Given the description of an element on the screen output the (x, y) to click on. 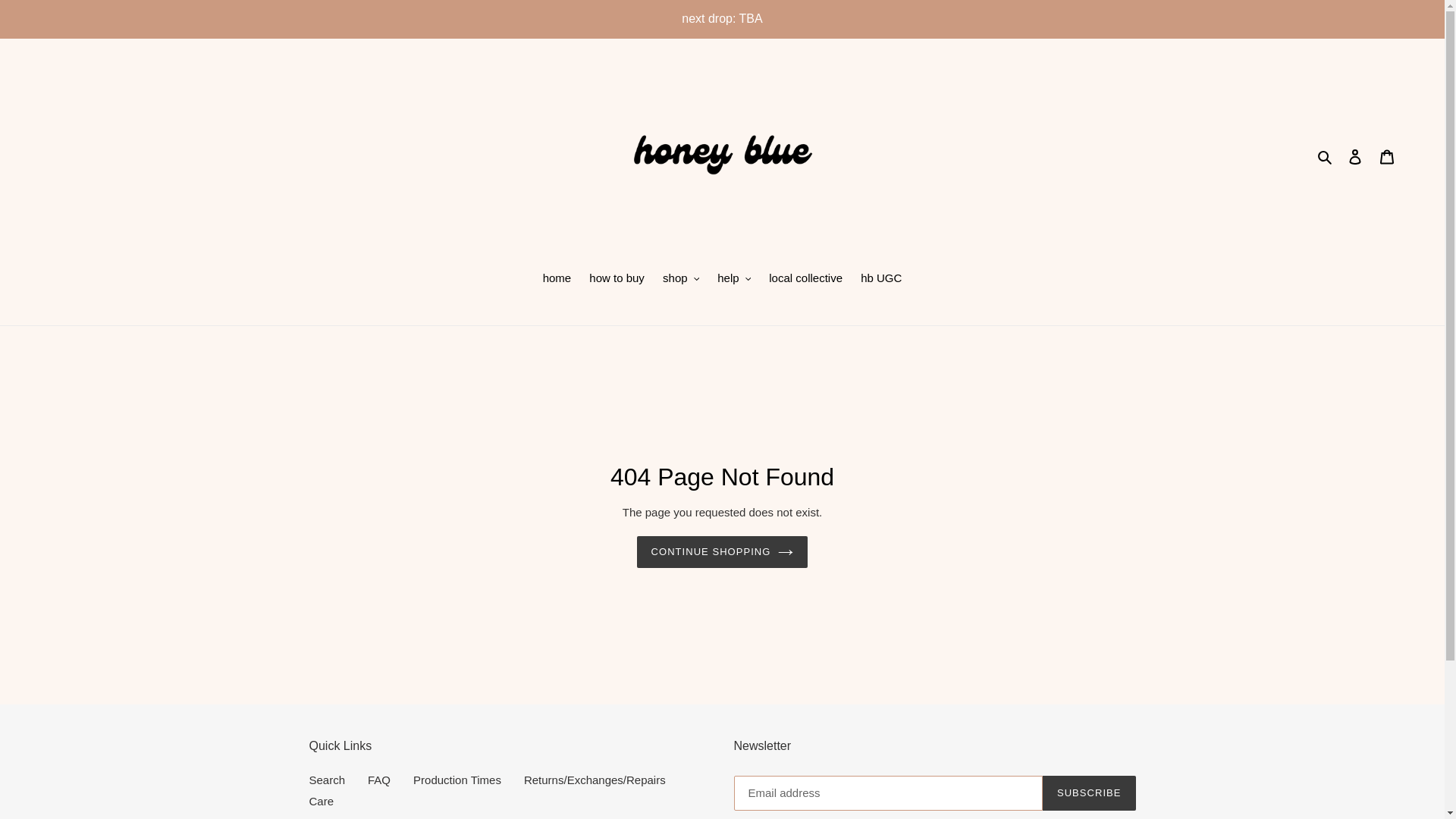
Cart (1387, 156)
shop (680, 279)
home (557, 279)
Search (1326, 156)
Log in (1355, 156)
next drop: TBA (721, 18)
help (734, 279)
how to buy (616, 279)
